Given the description of an element on the screen output the (x, y) to click on. 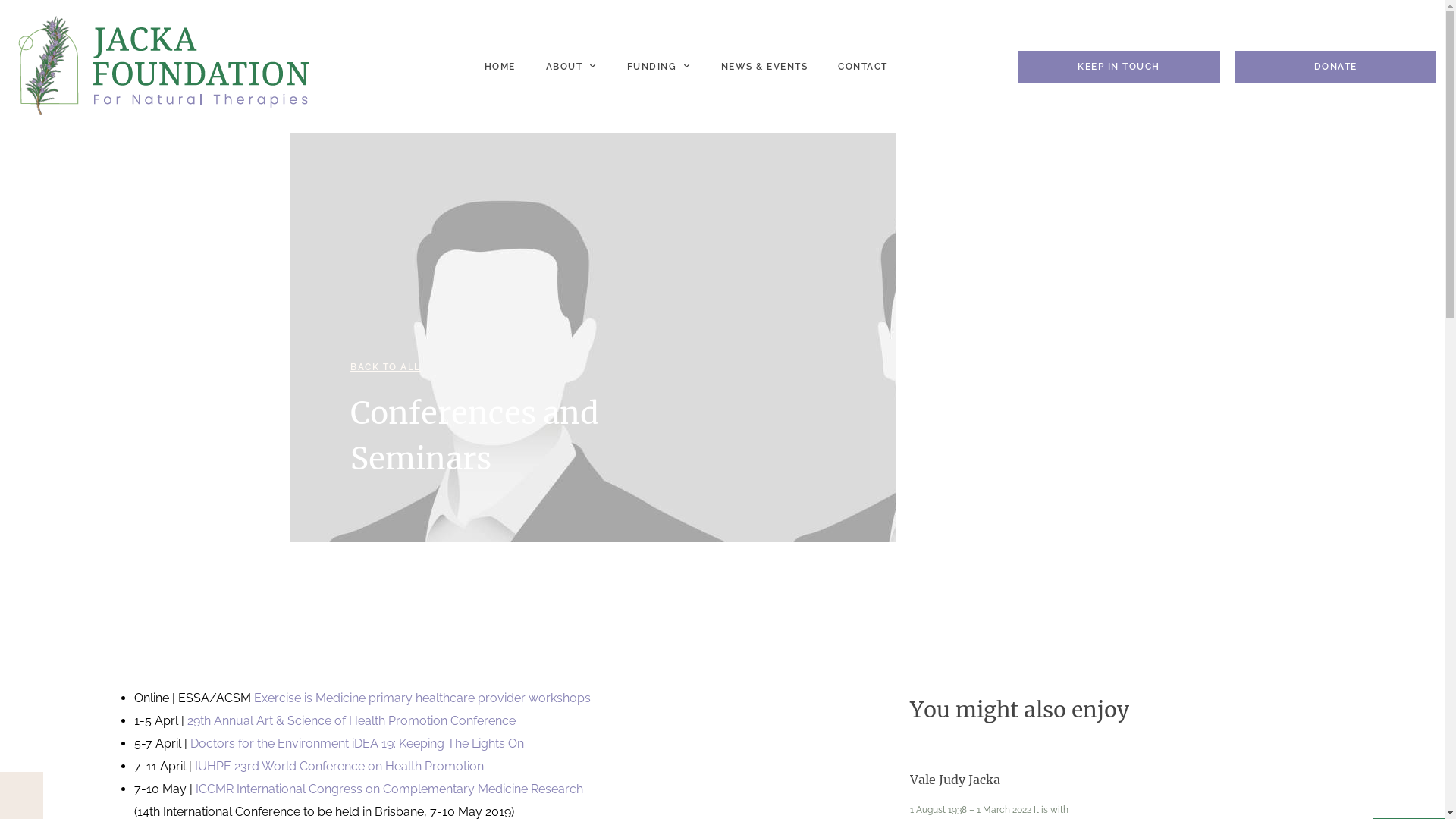
Vale Judy Jacka Element type: text (955, 779)
Doctors for the Environment iDEA 19: Keeping The Lights On Element type: text (357, 742)
Exercise is Medicine primary healthcare provider workshops Element type: text (422, 697)
KEEP IN TOUCH Element type: text (1119, 65)
IUHPE 23rd World Conference on Health Promotion Element type: text (338, 765)
BACK TO ALL Element type: text (385, 366)
DONATE Element type: text (1336, 65)
FUNDING Element type: text (658, 66)
29th Annual Art & Science of Health Promotion Conference Element type: text (351, 719)
NEWS & EVENTS Element type: text (763, 66)
CONTACT Element type: text (862, 66)
ABOUT Element type: text (570, 66)
HOME Element type: text (499, 66)
